Given the description of an element on the screen output the (x, y) to click on. 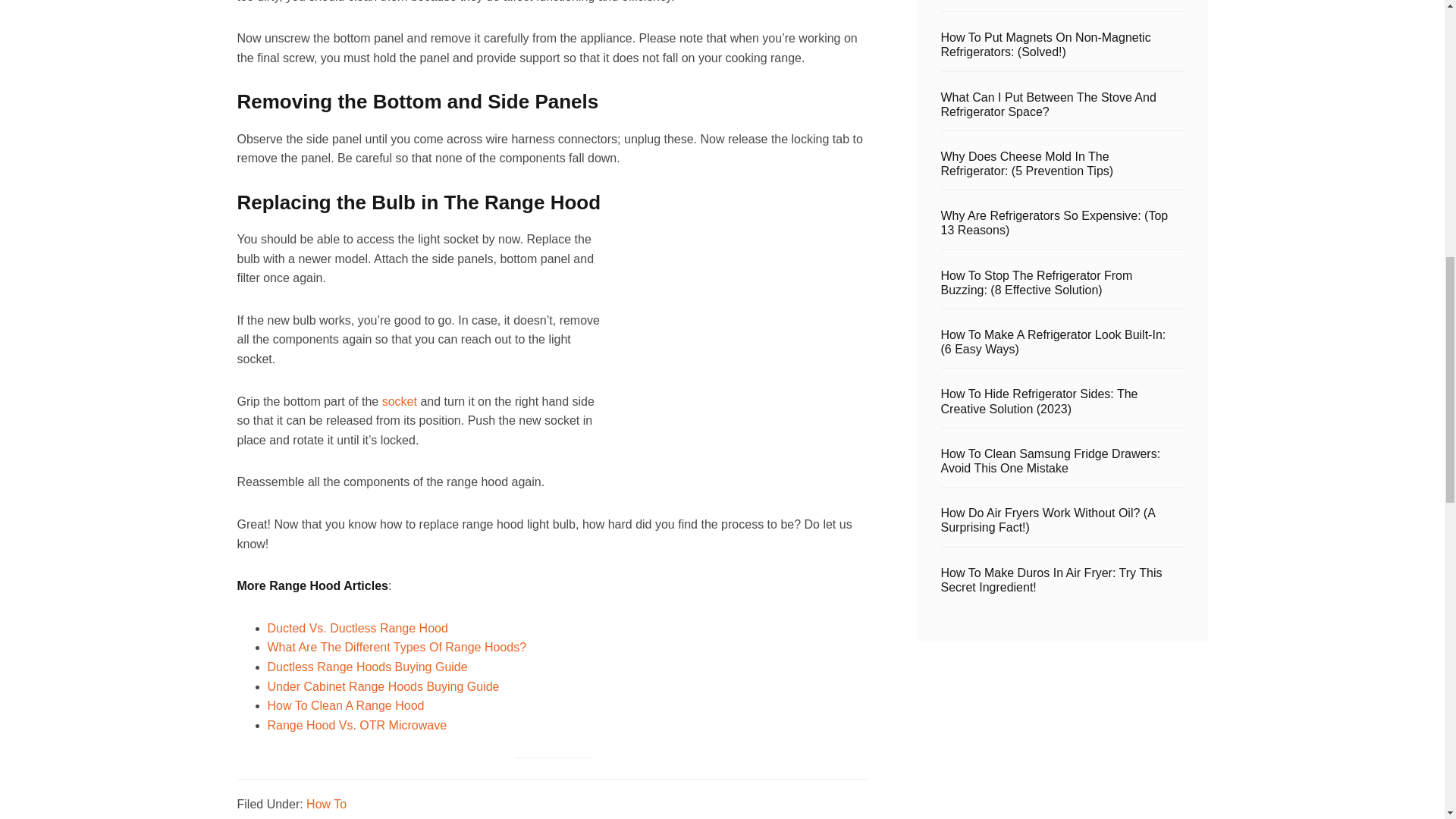
Ducted Vs. Ductless Range Hood (356, 627)
How To Clean A Range Hood (344, 705)
What Can I Put Between The Stove And Refrigerator Space? (1048, 103)
How To (325, 803)
What Are The Different Types Of Range Hoods? (395, 646)
Under Cabinet Range Hoods Buying Guide (382, 685)
Ductless Range Hoods Buying Guide (366, 666)
Range Hood Vs. OTR Microwave (356, 725)
socket (398, 400)
